Given the description of an element on the screen output the (x, y) to click on. 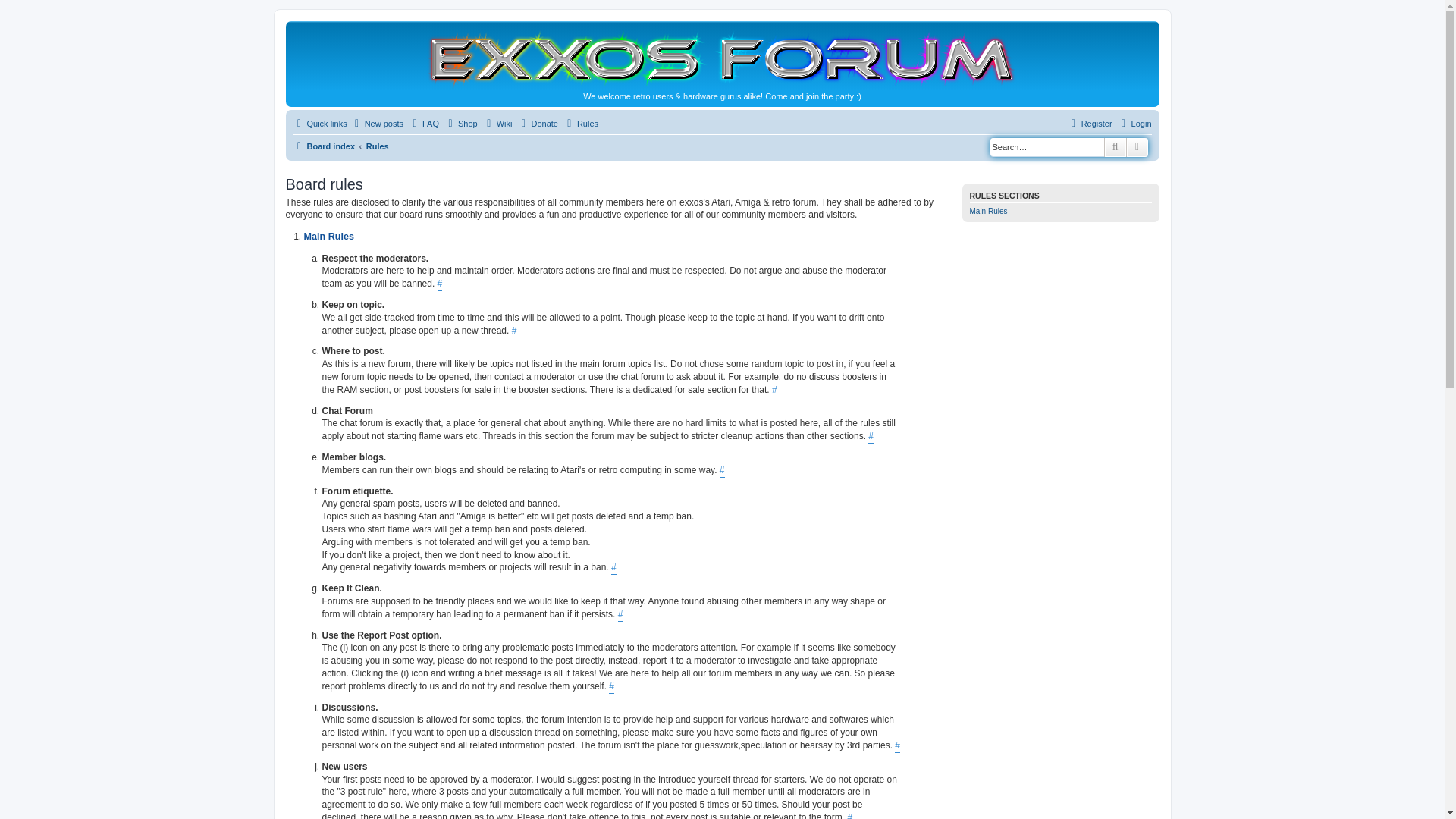
New posts (376, 123)
Board index (323, 146)
FAQ (424, 123)
Main Rules (988, 211)
Login (1134, 123)
Search (1114, 147)
Board index (727, 57)
Search (1114, 147)
Shop (460, 123)
Search for keywords (1046, 147)
Register (1089, 123)
Board index (323, 146)
Quick links (319, 123)
Advanced search (1137, 147)
Login (1134, 123)
